Given the description of an element on the screen output the (x, y) to click on. 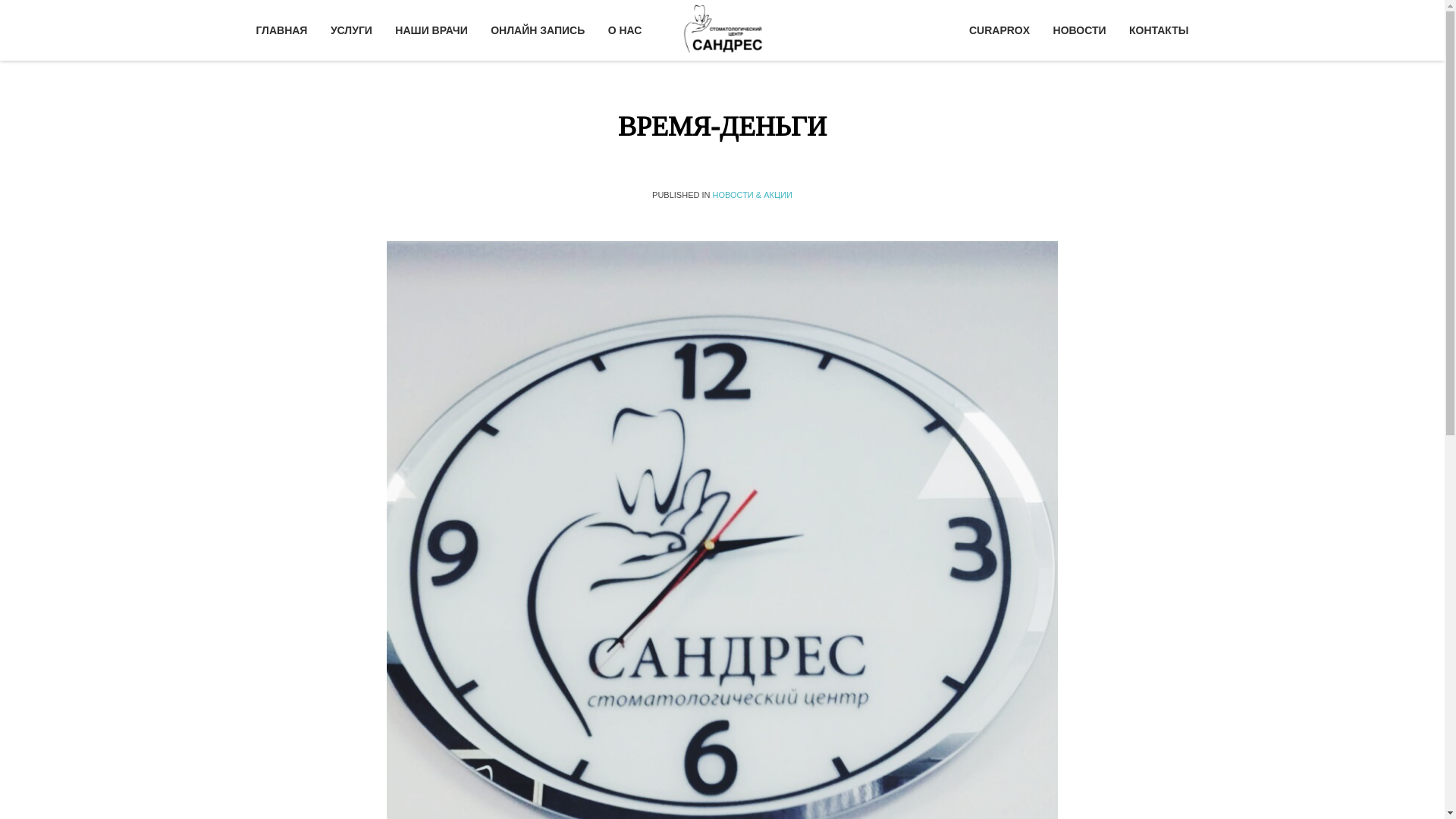
Skip to content Element type: text (296, 11)
CURAPROX Element type: text (1004, 30)
